Given the description of an element on the screen output the (x, y) to click on. 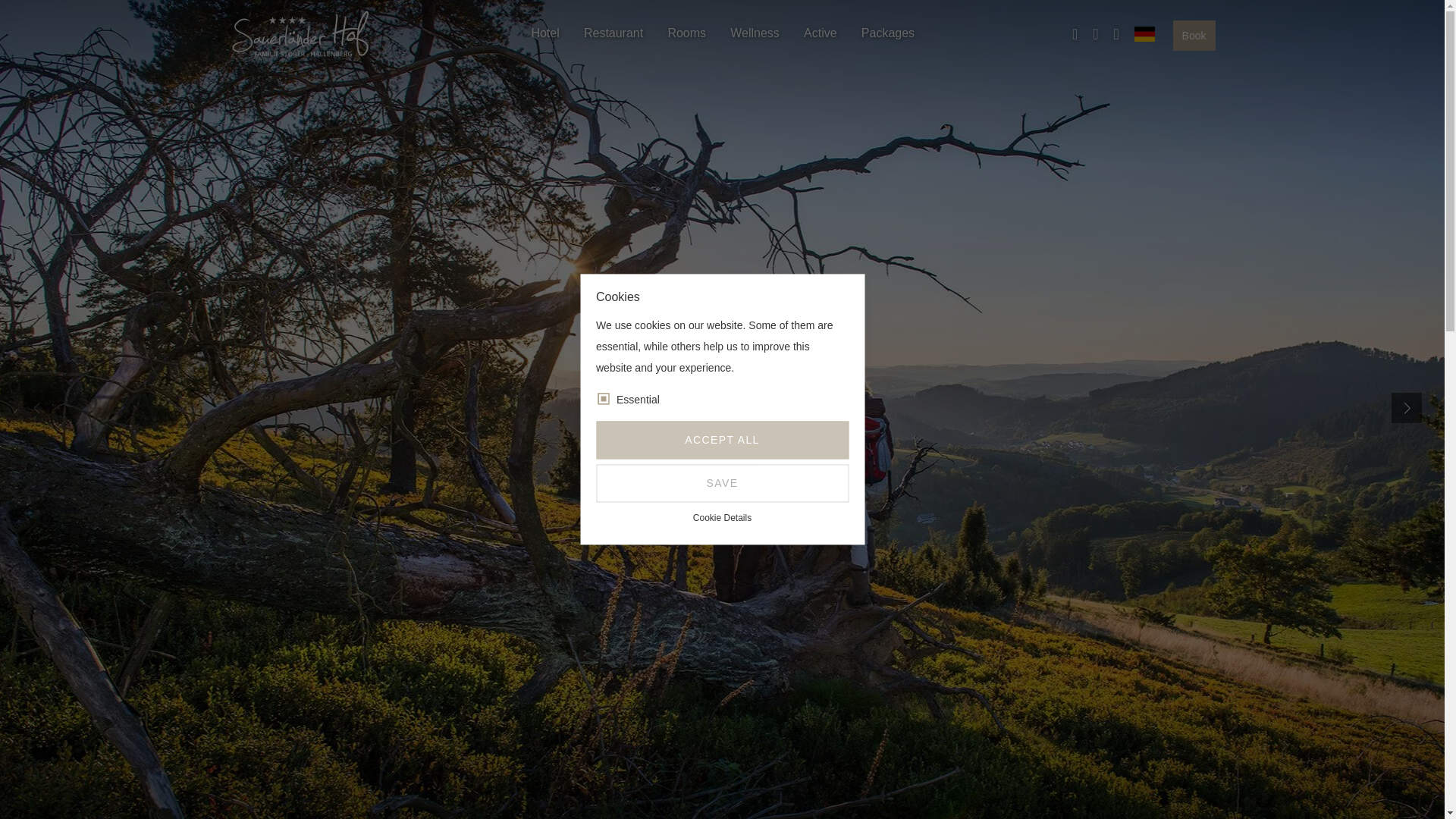
Wellness (754, 33)
Restaurant (612, 33)
Packages (888, 33)
